Given the description of an element on the screen output the (x, y) to click on. 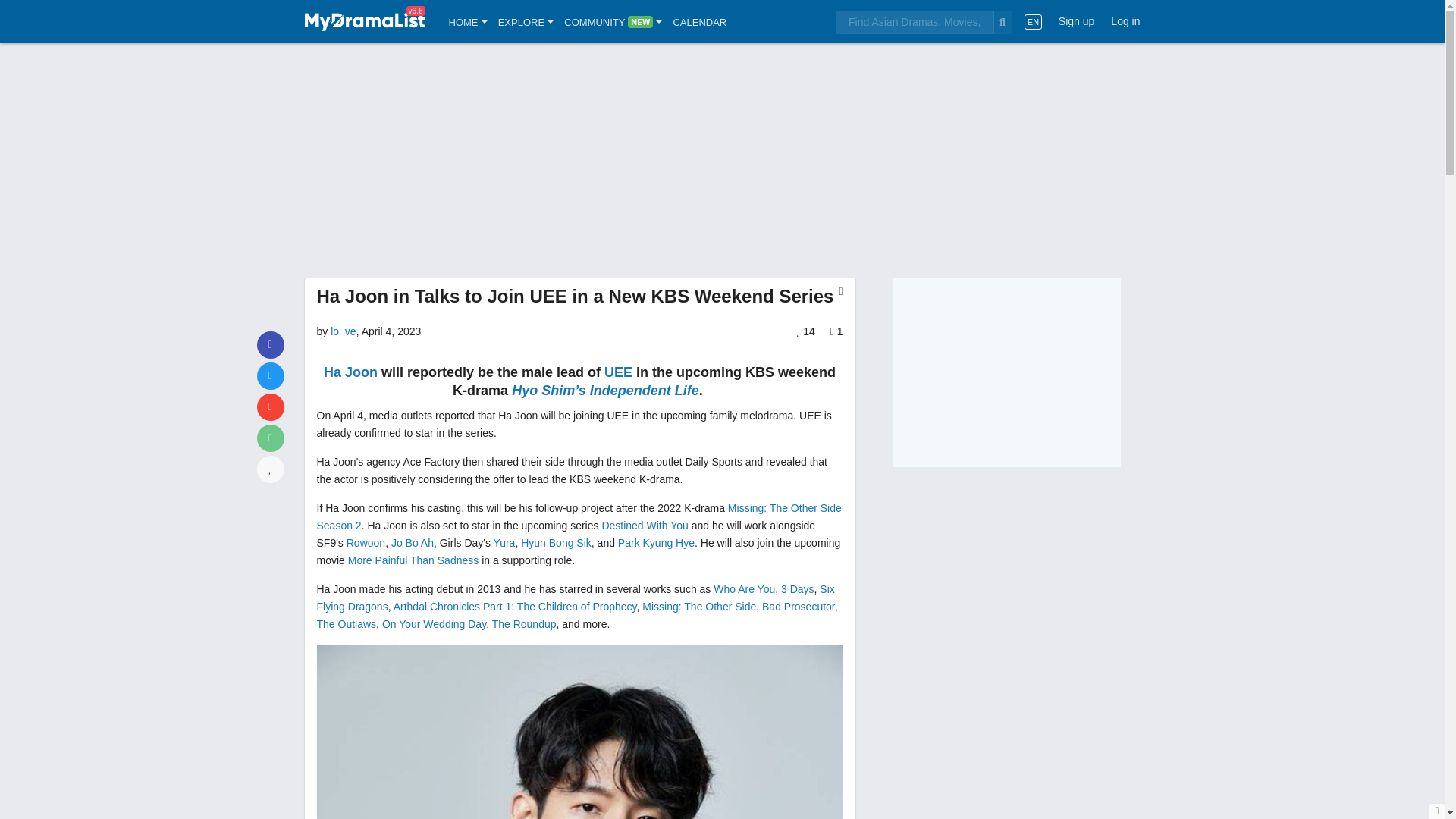
Rowoon (365, 542)
The Roundup (524, 623)
Hyun Bong Sik (556, 542)
HOME (467, 21)
Park Kyung Hye (655, 542)
Jo Bo Ah (412, 542)
Who Are You (743, 589)
Separate Lives at Hyosim's (605, 390)
Destined With You (644, 525)
On Your Wedding Day (433, 623)
